Given the description of an element on the screen output the (x, y) to click on. 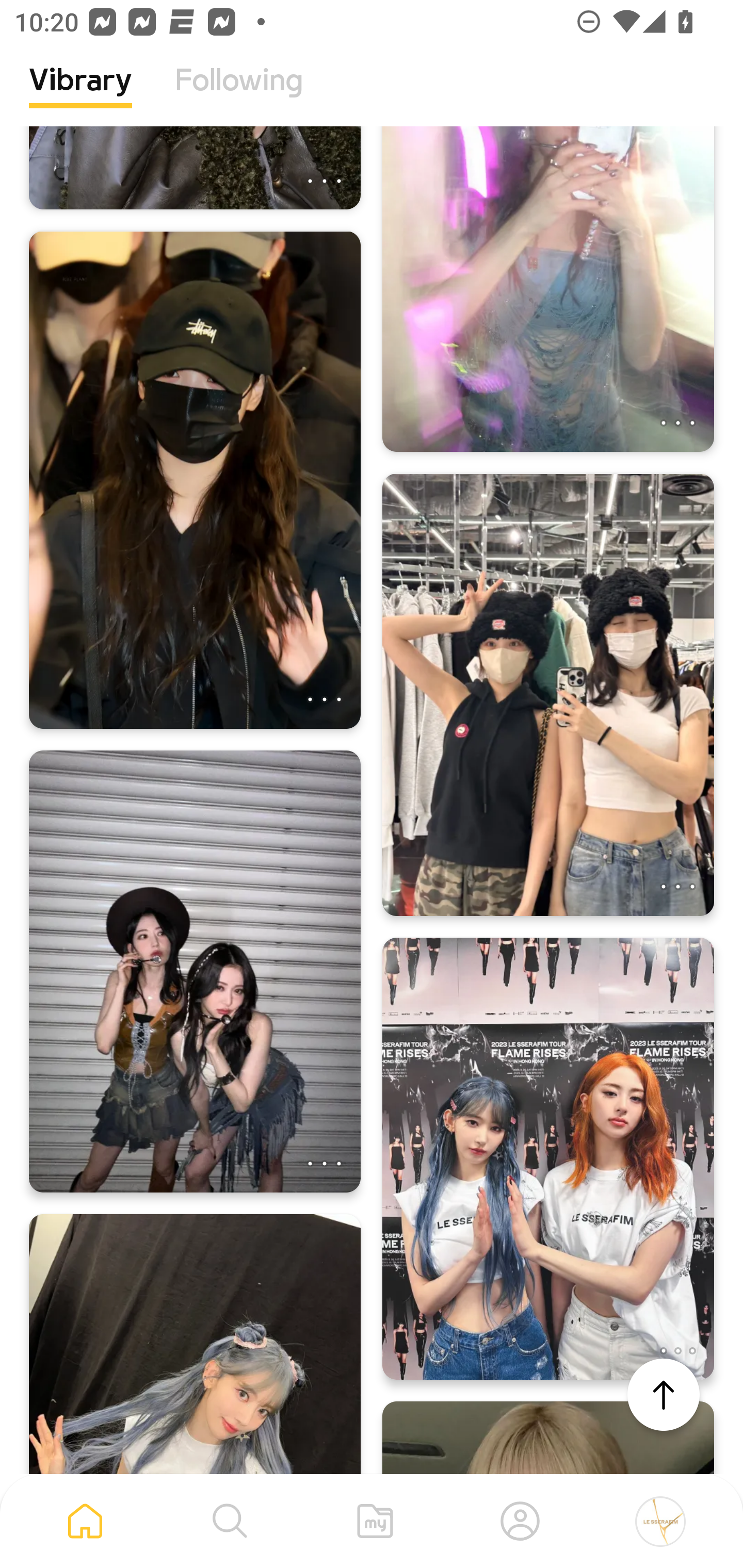
Vibrary (80, 95)
Following (239, 95)
